Given the description of an element on the screen output the (x, y) to click on. 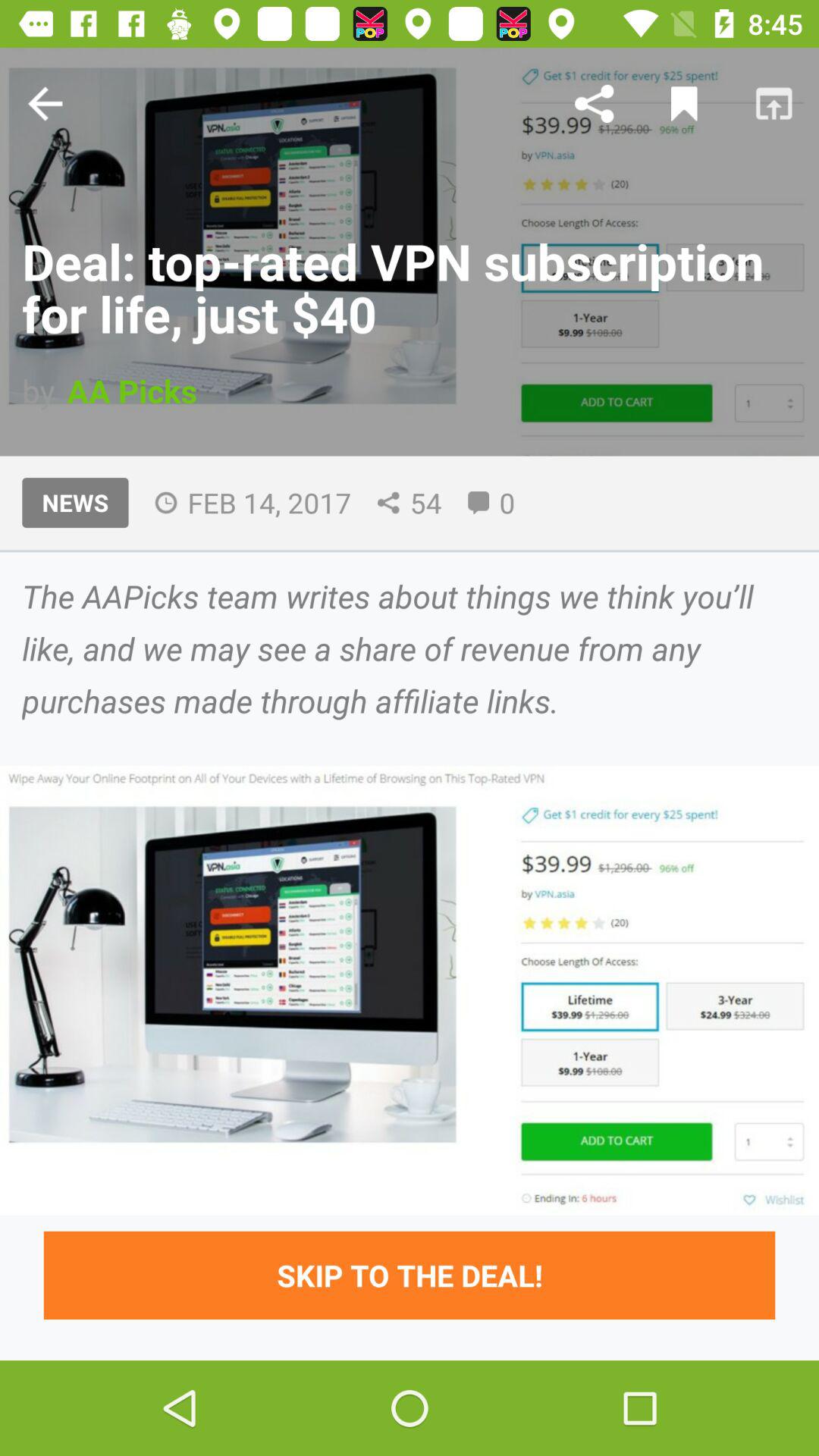
jump to the skip to the icon (409, 1275)
